Given the description of an element on the screen output the (x, y) to click on. 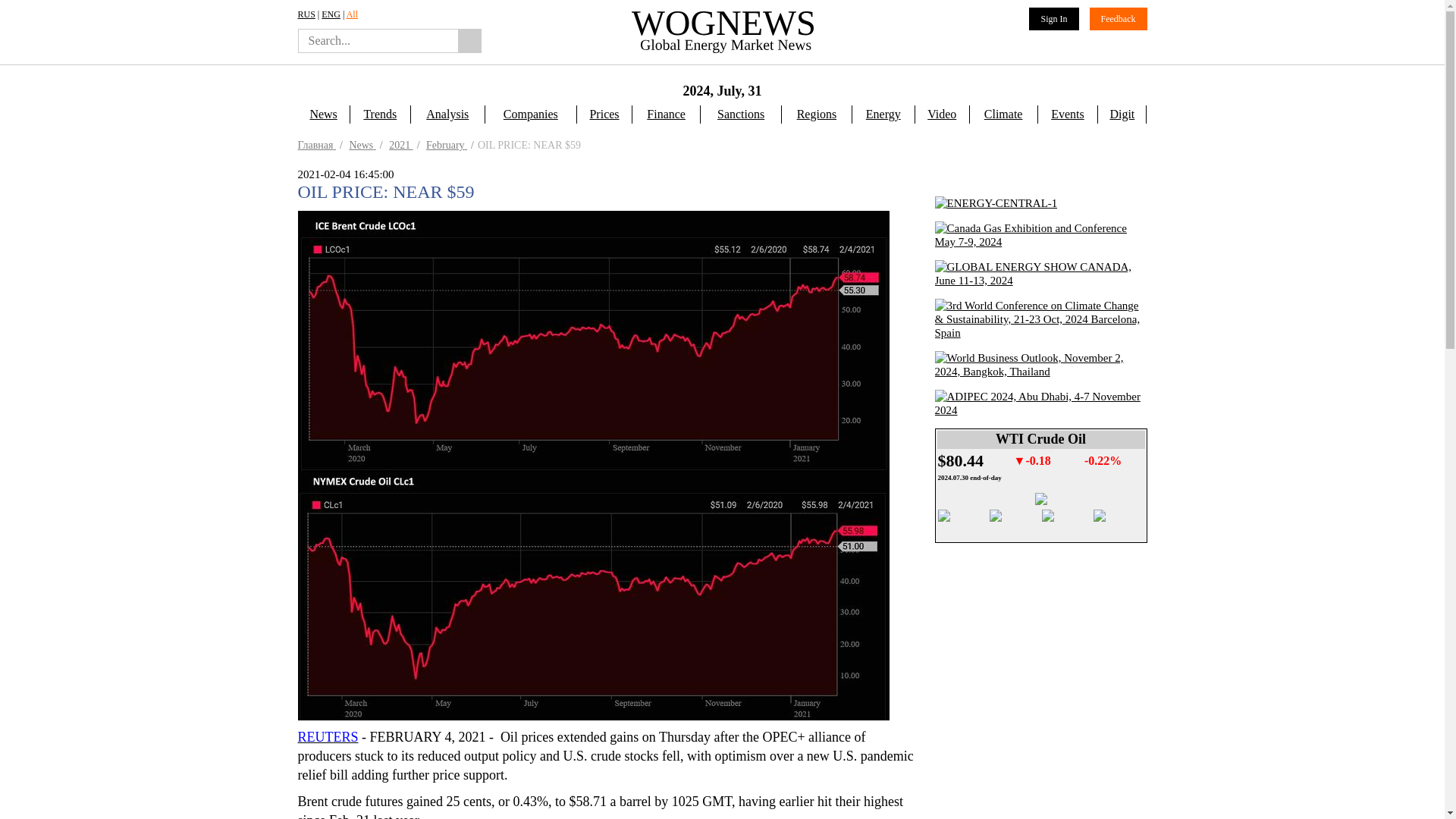
ENG (330, 14)
Prices (603, 114)
RUS (305, 14)
Regions (816, 114)
Canada Gas Exhibition and Conference May 7-9, 2024 (1040, 241)
Find (469, 40)
GLOBAL ENERGY SHOW CANADA, June 11-13, 2024 (1040, 273)
World Business Outlook, November 2, 2024, Bangkok, Thailand (1040, 390)
Analysis (447, 114)
All (352, 14)
World Business Outlook, November 2, 2024, Bangkok, Thailand (1040, 364)
Sanctions (740, 114)
ADIPEC 2024, Abu Dhabi, 4-7 November 2024 (1040, 429)
ENERGY-CENTRAL-1 (995, 203)
Feedback (1118, 18)
